Given the description of an element on the screen output the (x, y) to click on. 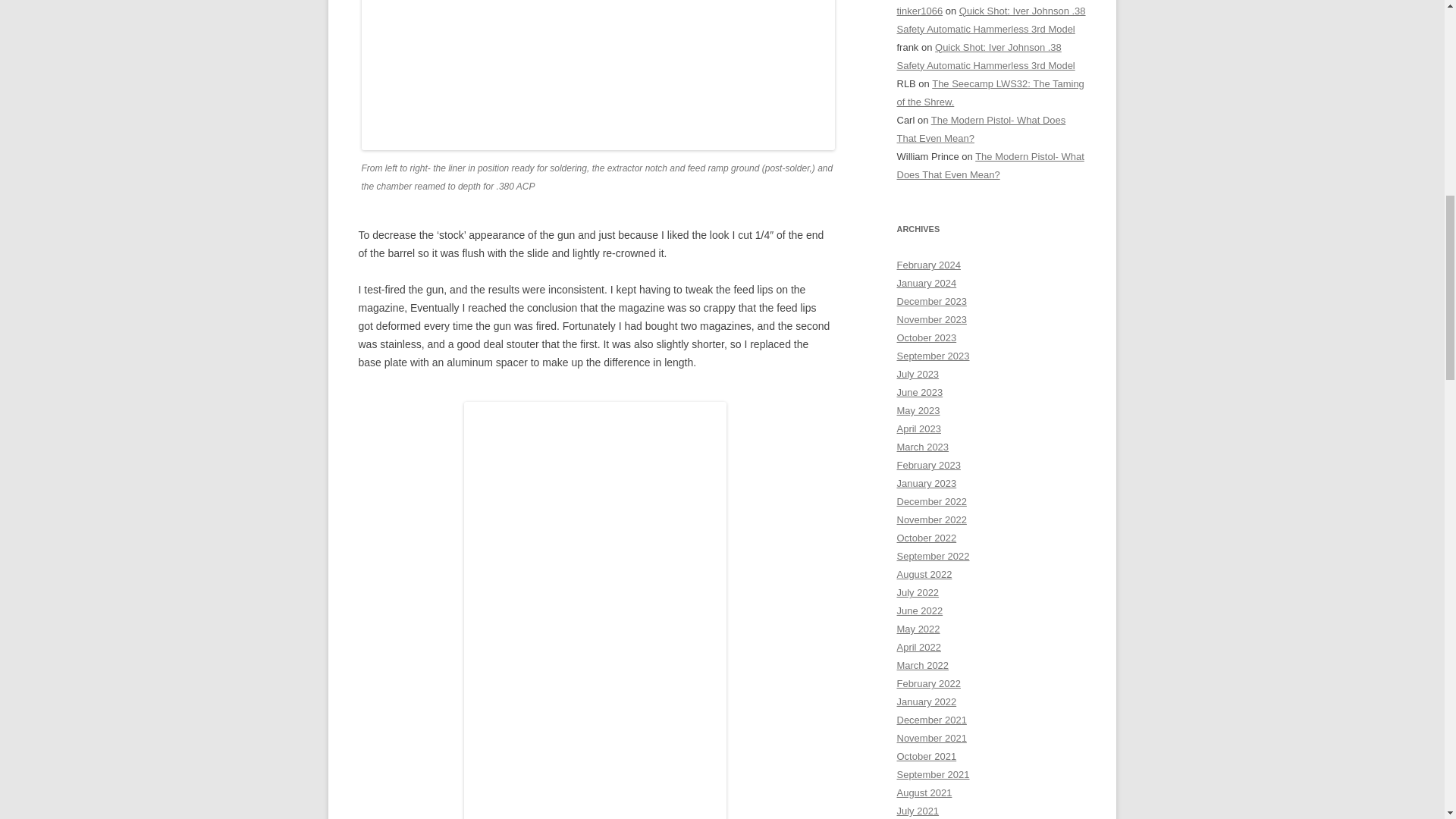
December 2022 (931, 501)
tinker1066 (919, 10)
May 2023 (917, 410)
July 2023 (917, 374)
March 2023 (922, 446)
October 2022 (926, 537)
January 2024 (926, 283)
November 2022 (931, 519)
April 2023 (918, 428)
February 2023 (927, 464)
June 2023 (919, 392)
The Modern Pistol- What Does That Even Mean? (989, 165)
November 2023 (931, 319)
December 2023 (931, 301)
